Given the description of an element on the screen output the (x, y) to click on. 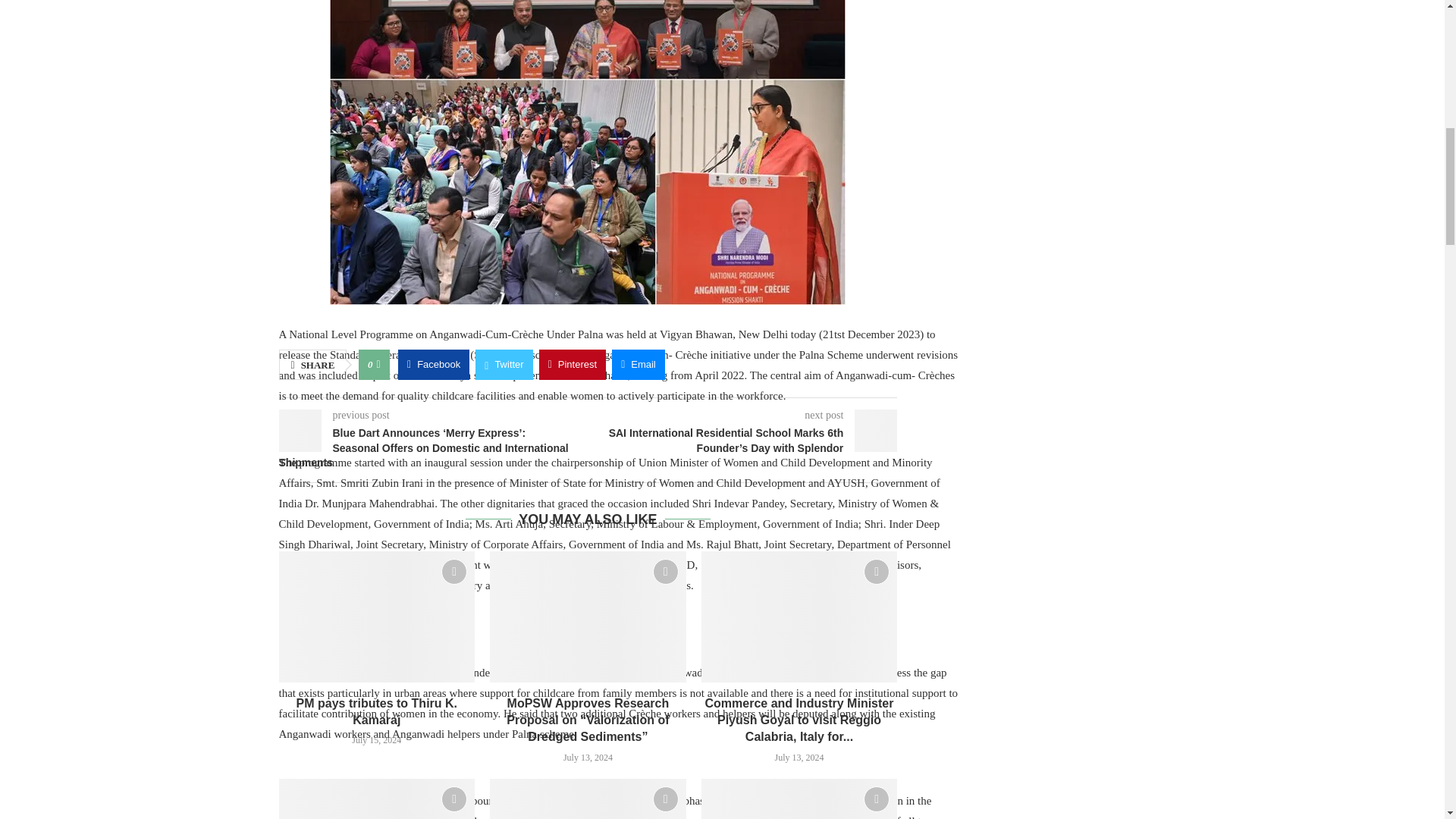
PM pays tributes to Thiru K. Kamaraj (377, 616)
